Given the description of an element on the screen output the (x, y) to click on. 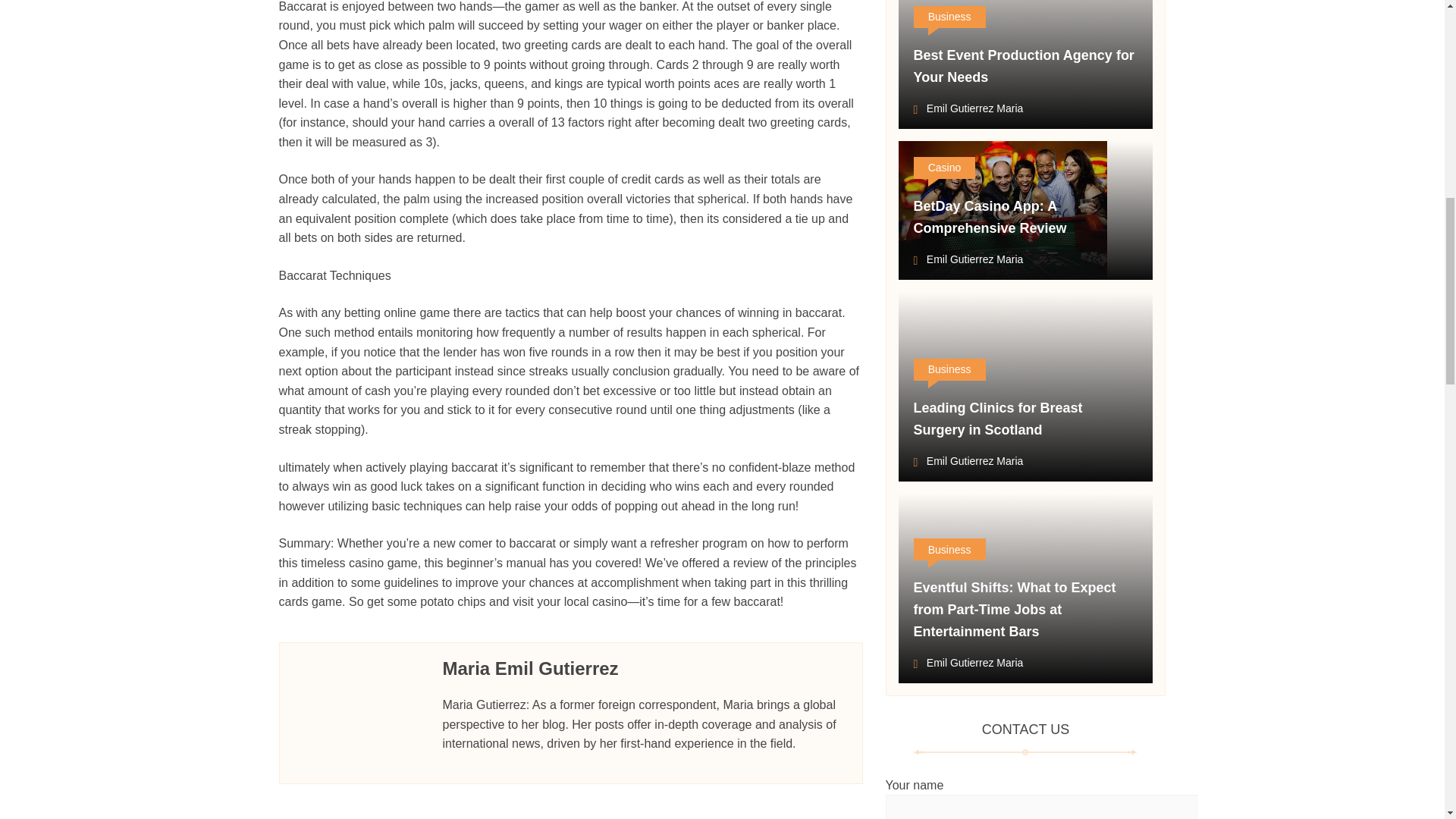
Best Event Production Agency for Your Needs (1023, 66)
Business (948, 16)
Emil Gutierrez Maria (967, 664)
BetDay Casino App: A Comprehensive Review (988, 217)
Emil Gutierrez Maria (967, 462)
Business (948, 369)
Business (948, 549)
Emil Gutierrez Maria (967, 260)
Leading Clinics for Breast Surgery in Scotland (996, 419)
Casino (943, 168)
Emil Gutierrez Maria (967, 109)
